Given the description of an element on the screen output the (x, y) to click on. 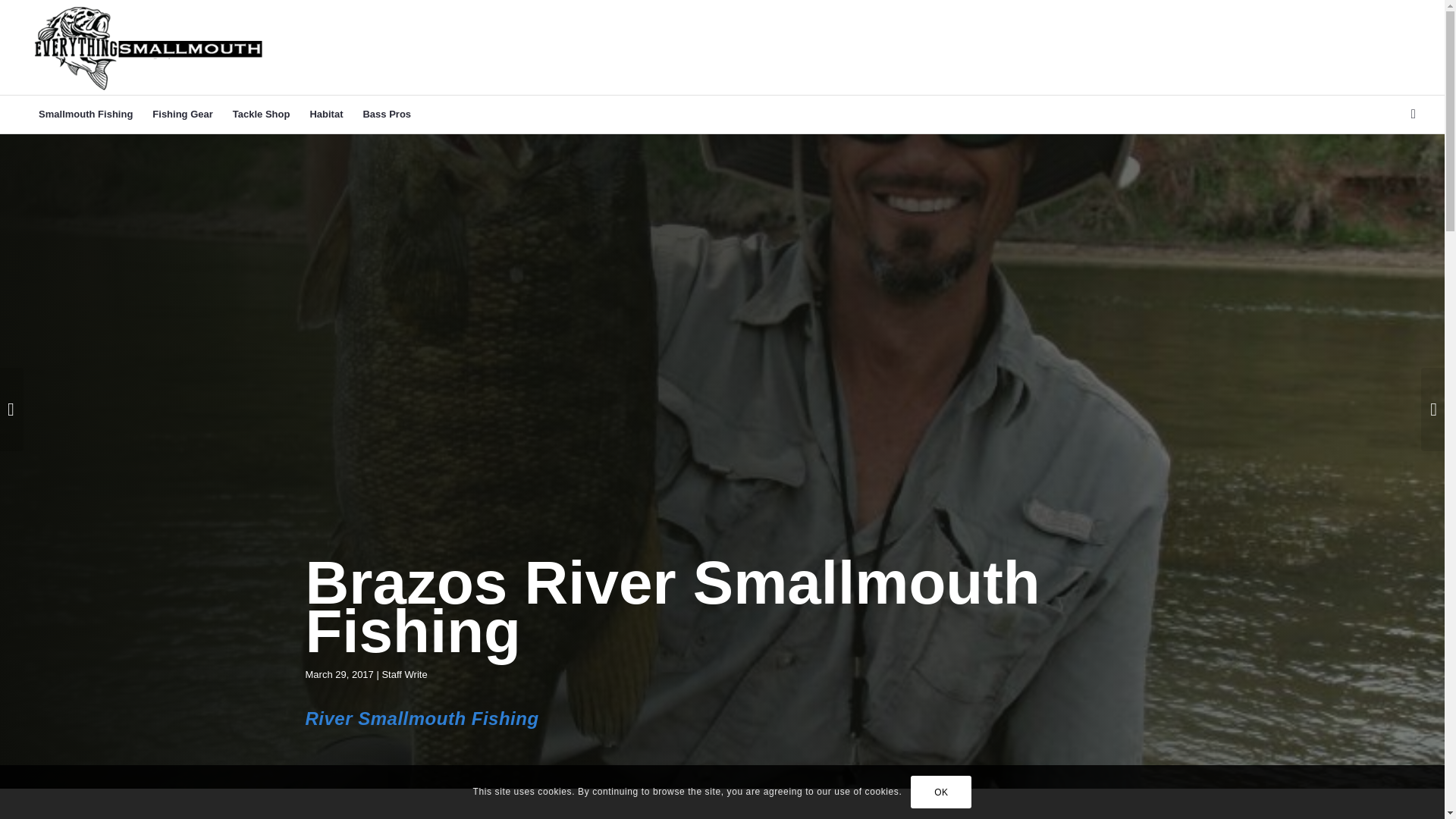
Bass Pros (386, 114)
Tackle Shop (260, 114)
Smallmouth Fishing (85, 114)
OK (941, 791)
Fishing Gear (182, 114)
Habitat (325, 114)
